Given the description of an element on the screen output the (x, y) to click on. 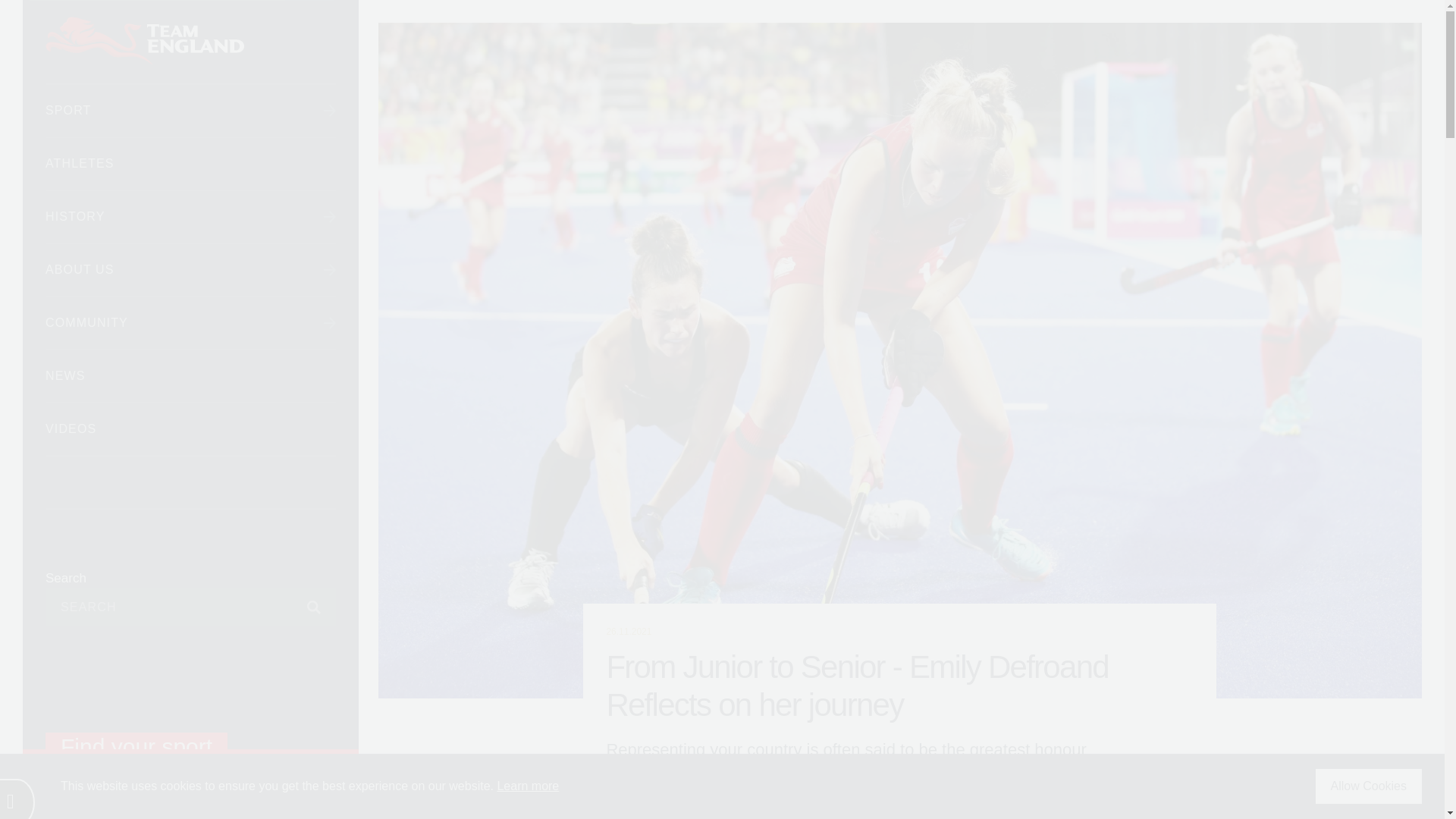
Subscribe (301, 607)
SPORT (190, 110)
Subscribe (301, 607)
Commonwealth Games England (190, 41)
